Given the description of an element on the screen output the (x, y) to click on. 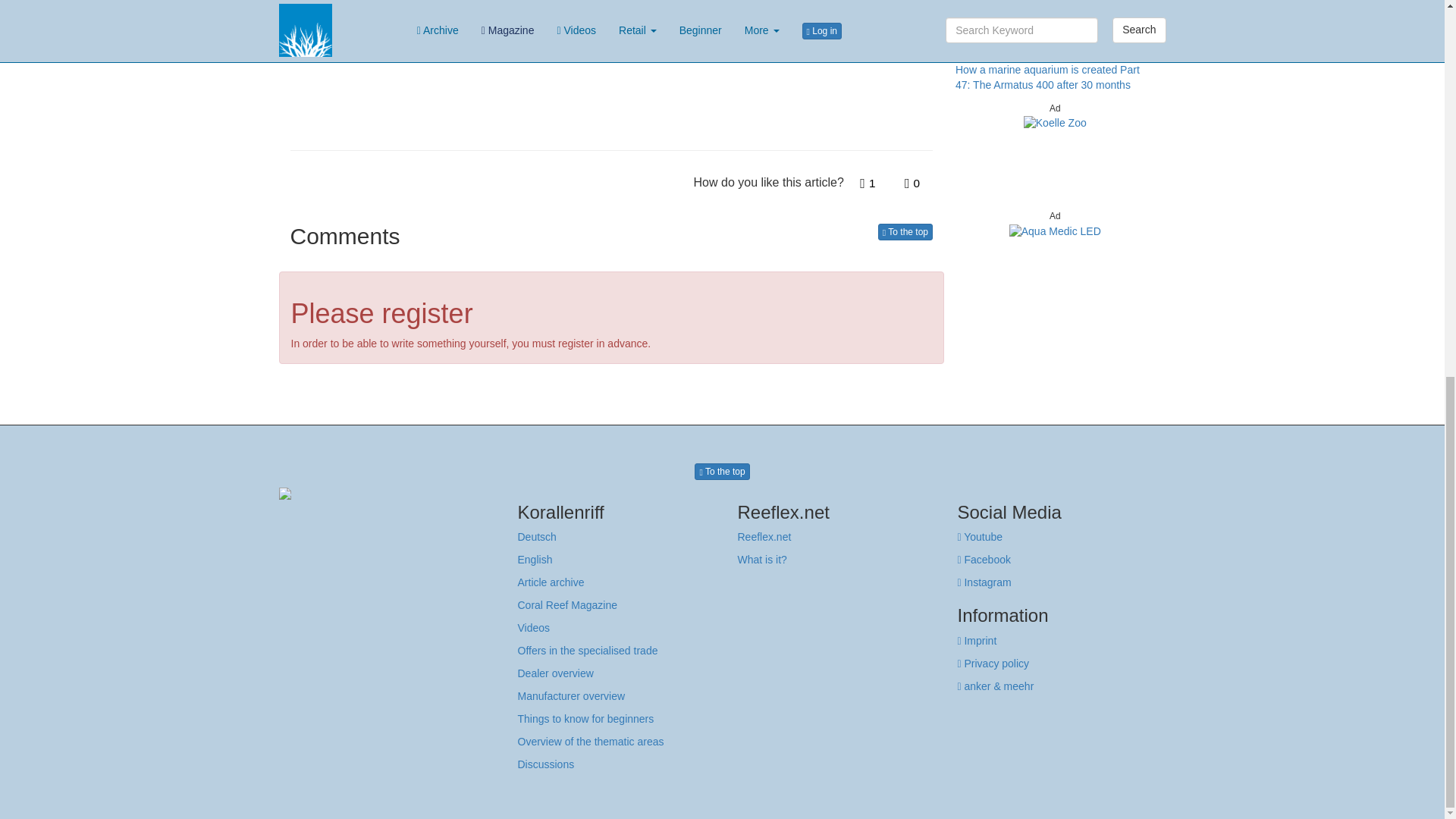
1 (867, 183)
0 (912, 183)
